Given the description of an element on the screen output the (x, y) to click on. 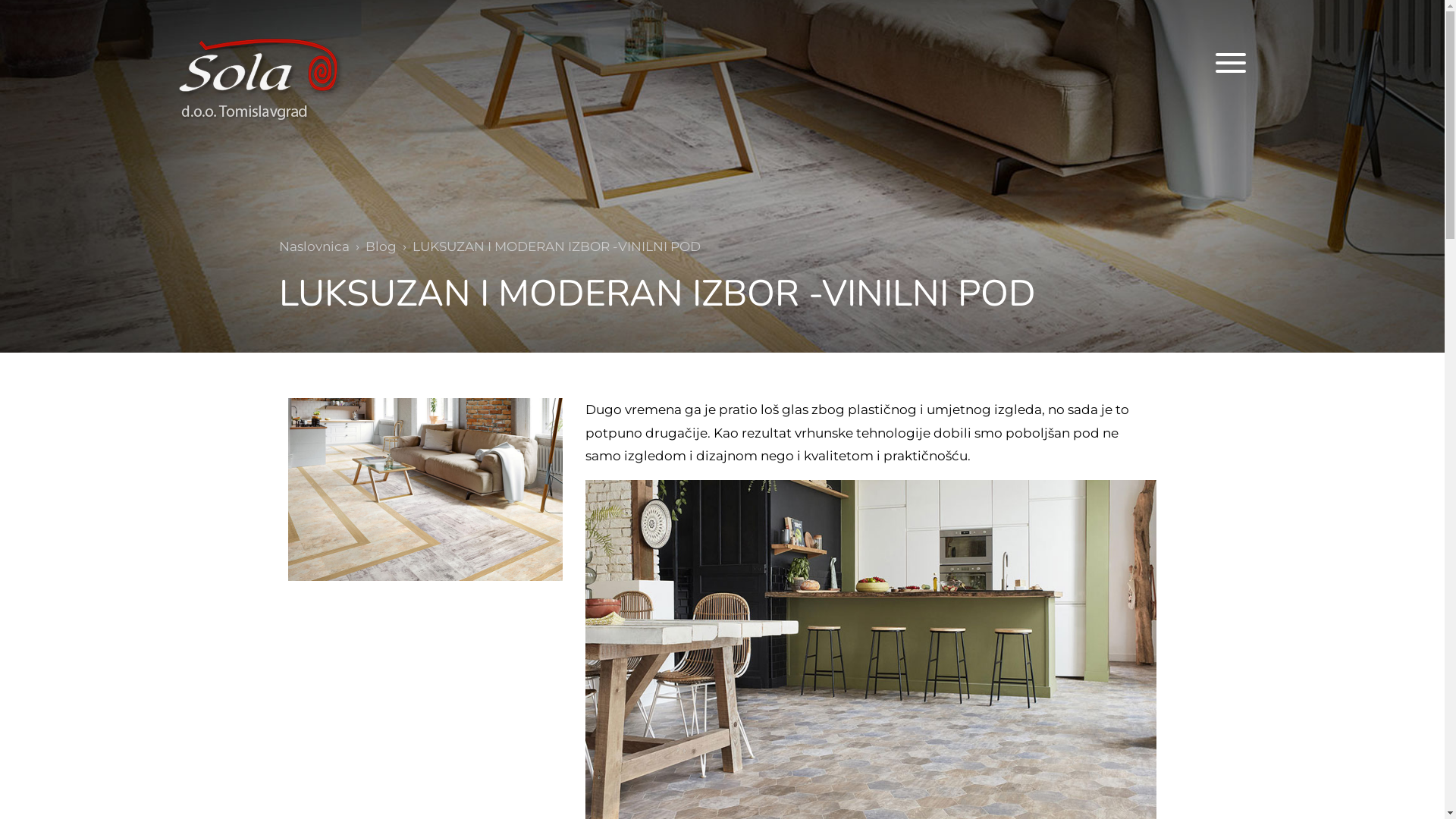
LUKSUZAN I MODERAN IZBOR -VINILNI POD Element type: hover (425, 487)
Blog Element type: text (380, 246)
Naslovnica Element type: text (314, 246)
